Given the description of an element on the screen output the (x, y) to click on. 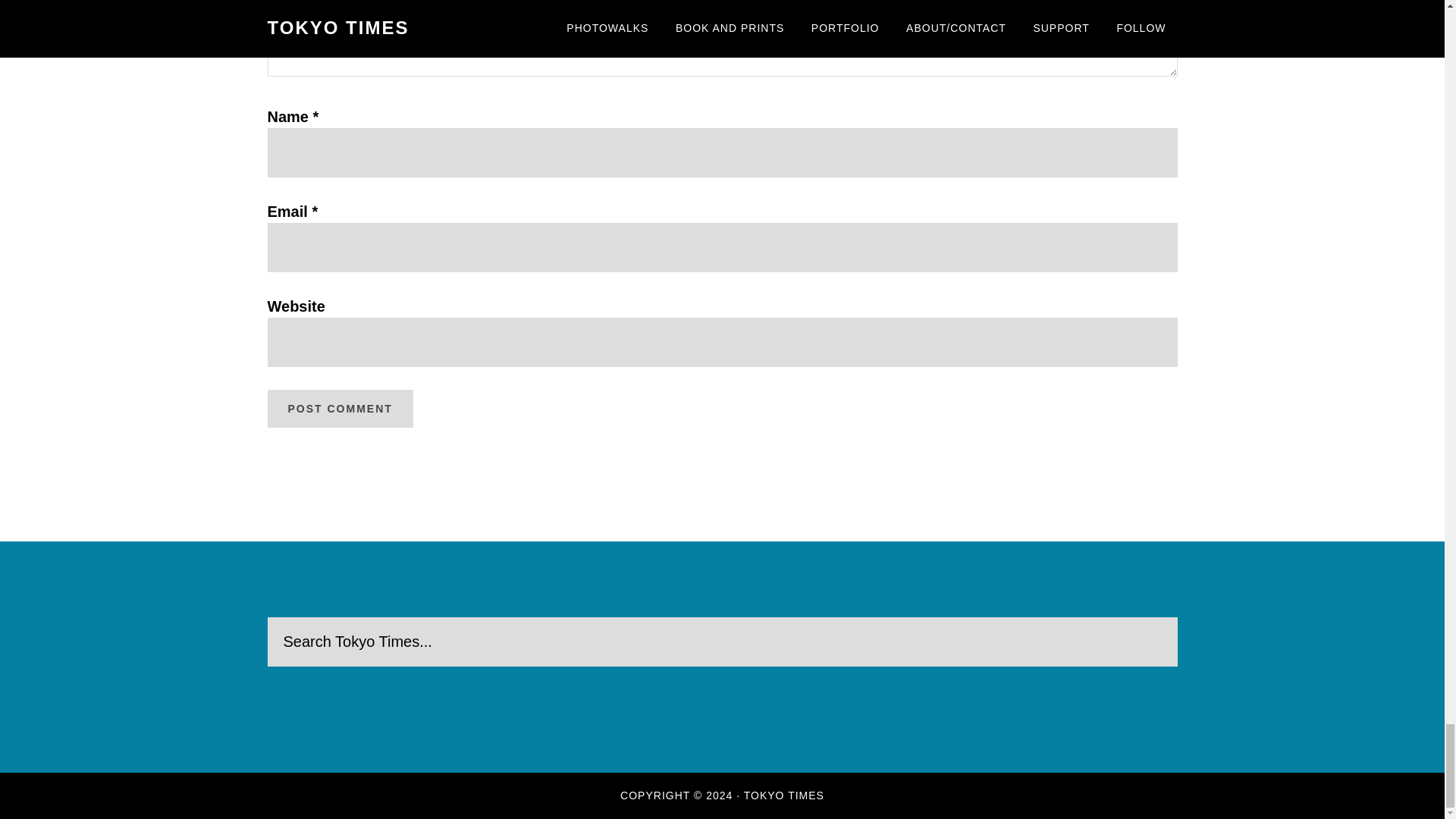
Post Comment (339, 408)
